Given the description of an element on the screen output the (x, y) to click on. 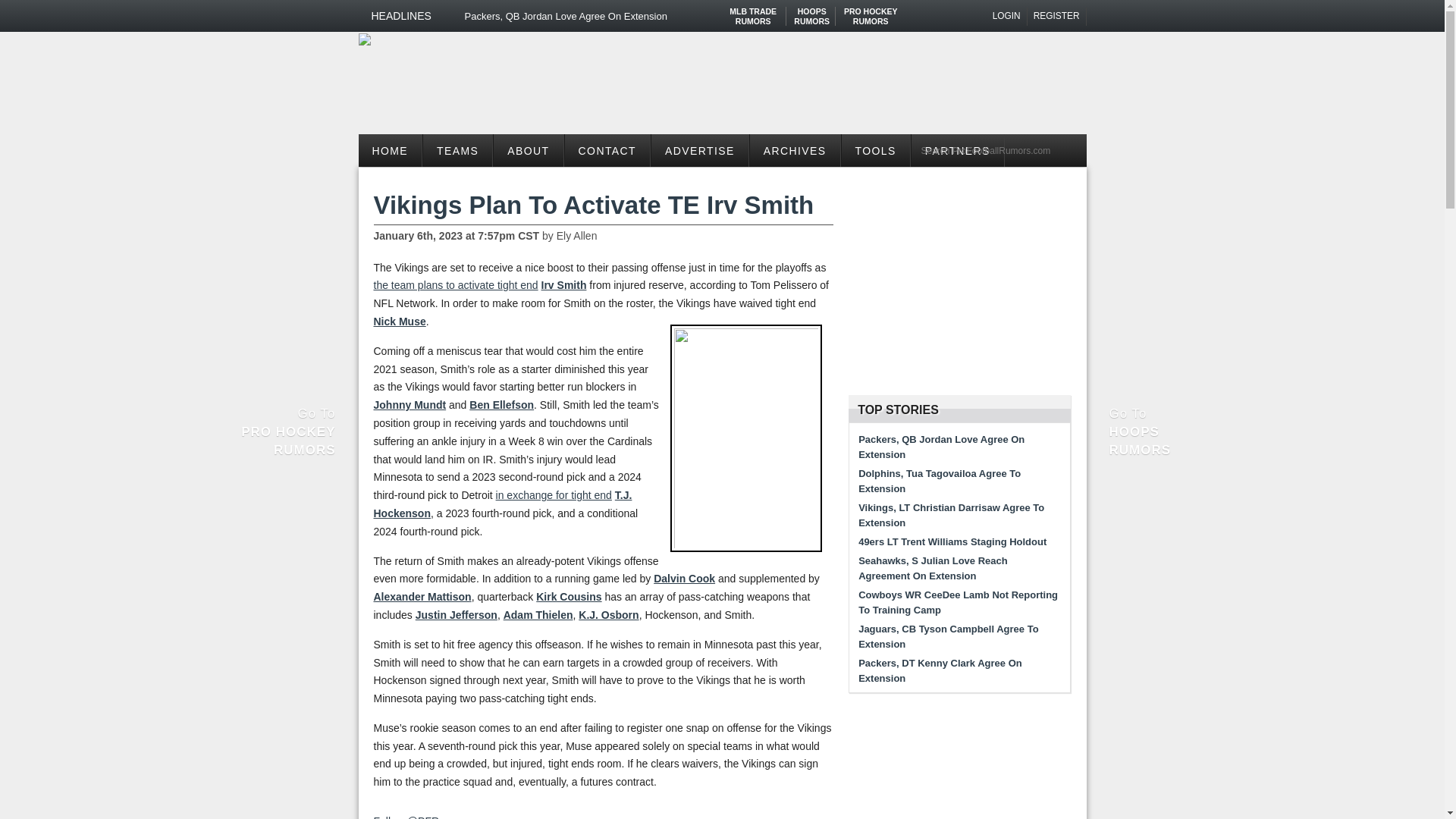
HOME (390, 150)
TEAMS (753, 11)
Search for: (457, 150)
REGISTER (999, 150)
LOGIN (1056, 16)
Packers, QB Jordan Love Agree On Extension (1007, 16)
Search (610, 16)
Pro Football Rumors (811, 11)
